Given the description of an element on the screen output the (x, y) to click on. 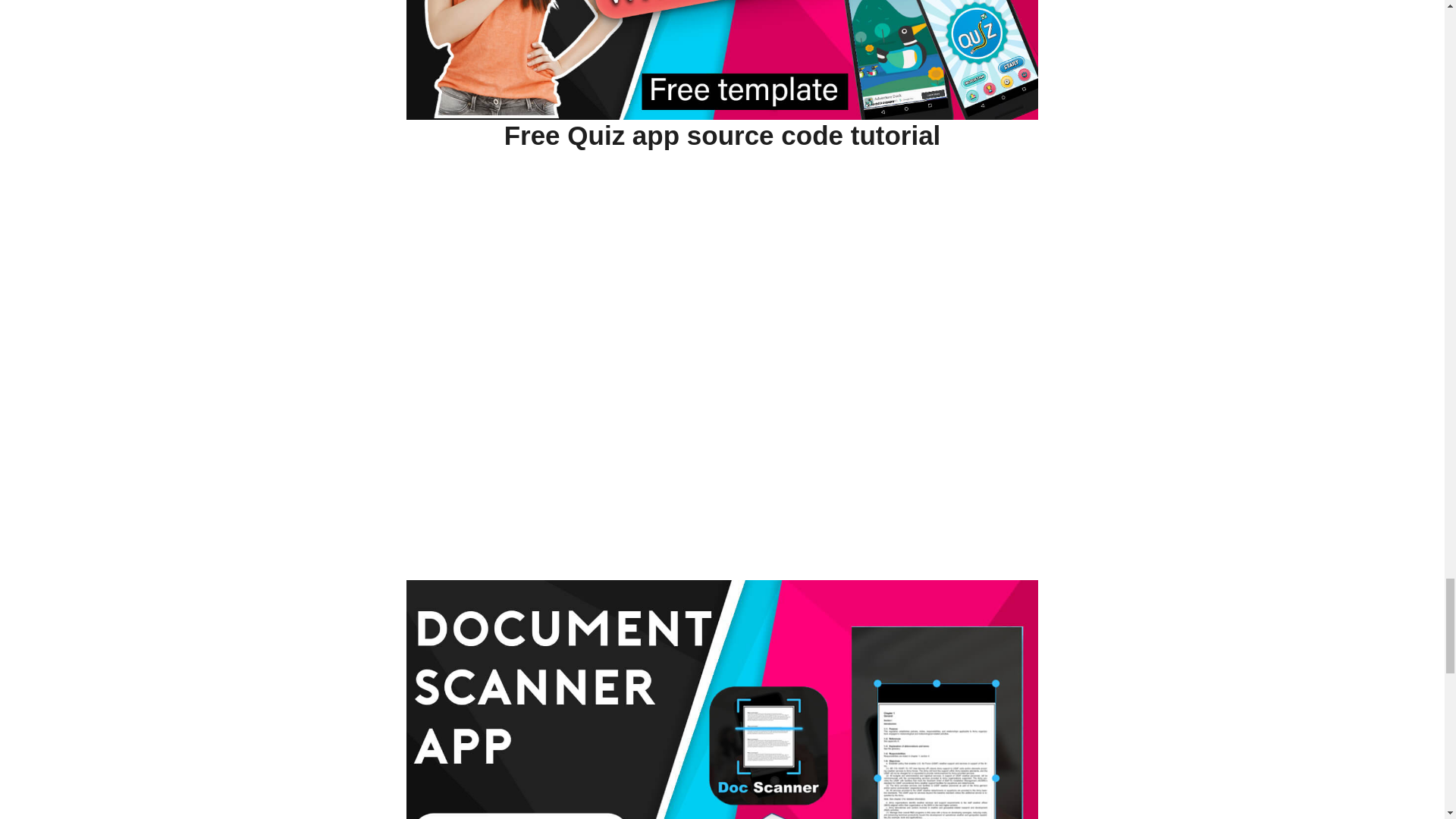
Free Quiz app source code tutorial (721, 135)
